Given the description of an element on the screen output the (x, y) to click on. 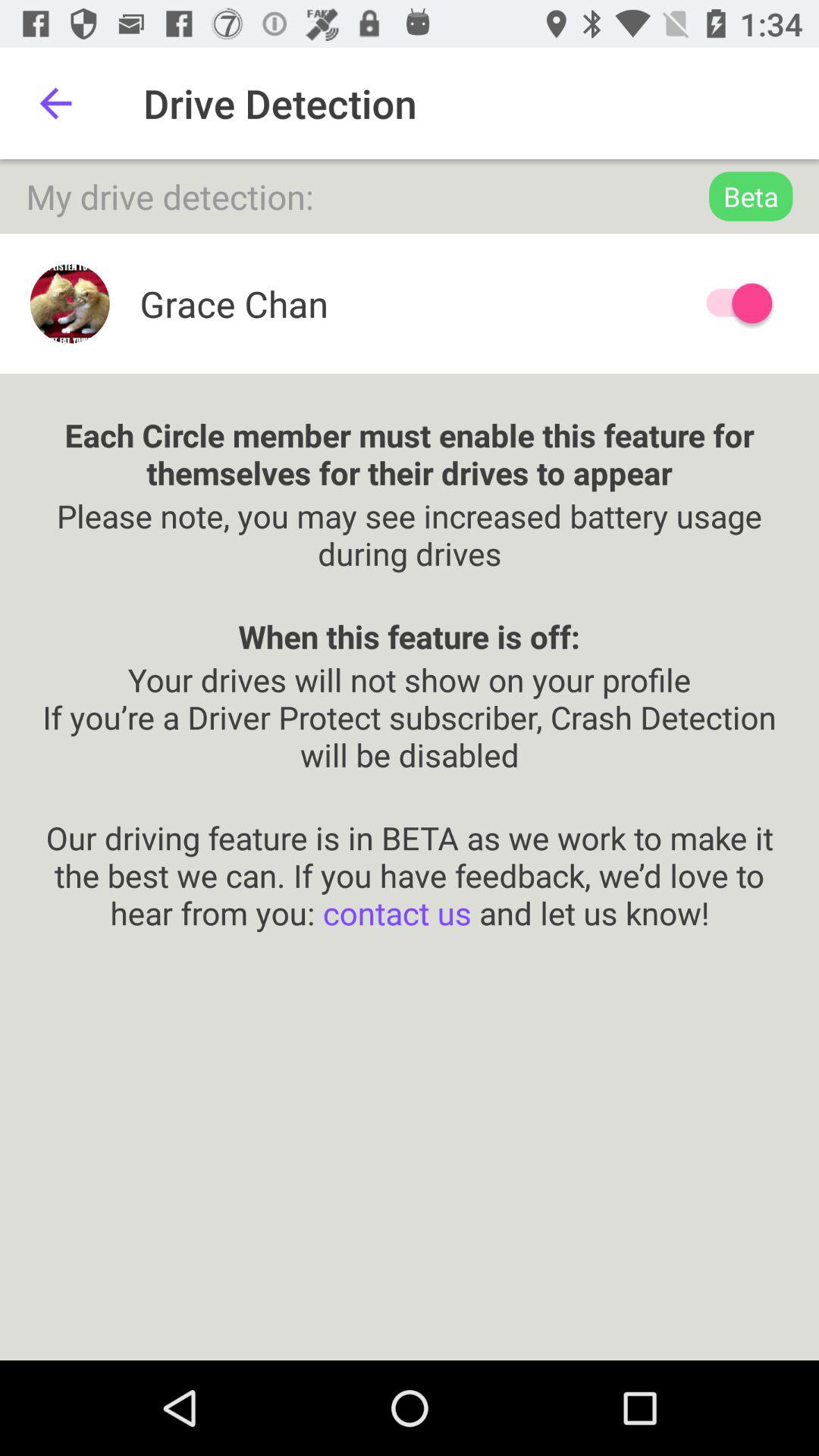
open icon below my drive detection: (731, 303)
